Given the description of an element on the screen output the (x, y) to click on. 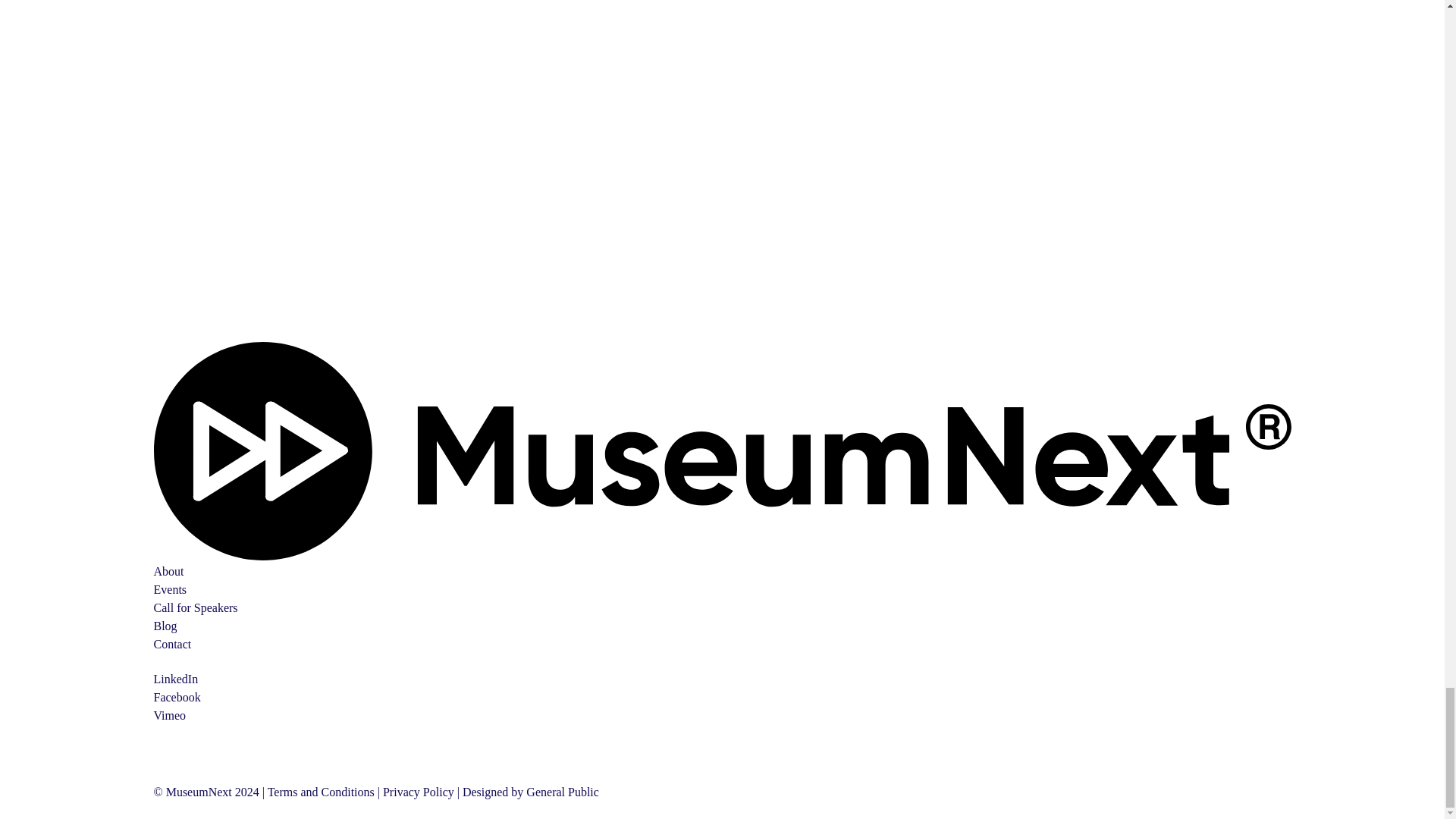
Call for Speakers (194, 607)
Vimeo (169, 715)
Contact (171, 644)
Blog (164, 625)
Facebook (176, 697)
Terms and Conditions (320, 791)
Events (169, 589)
LinkedIn (175, 678)
About (167, 571)
Designed by General Public (530, 791)
